Given the description of an element on the screen output the (x, y) to click on. 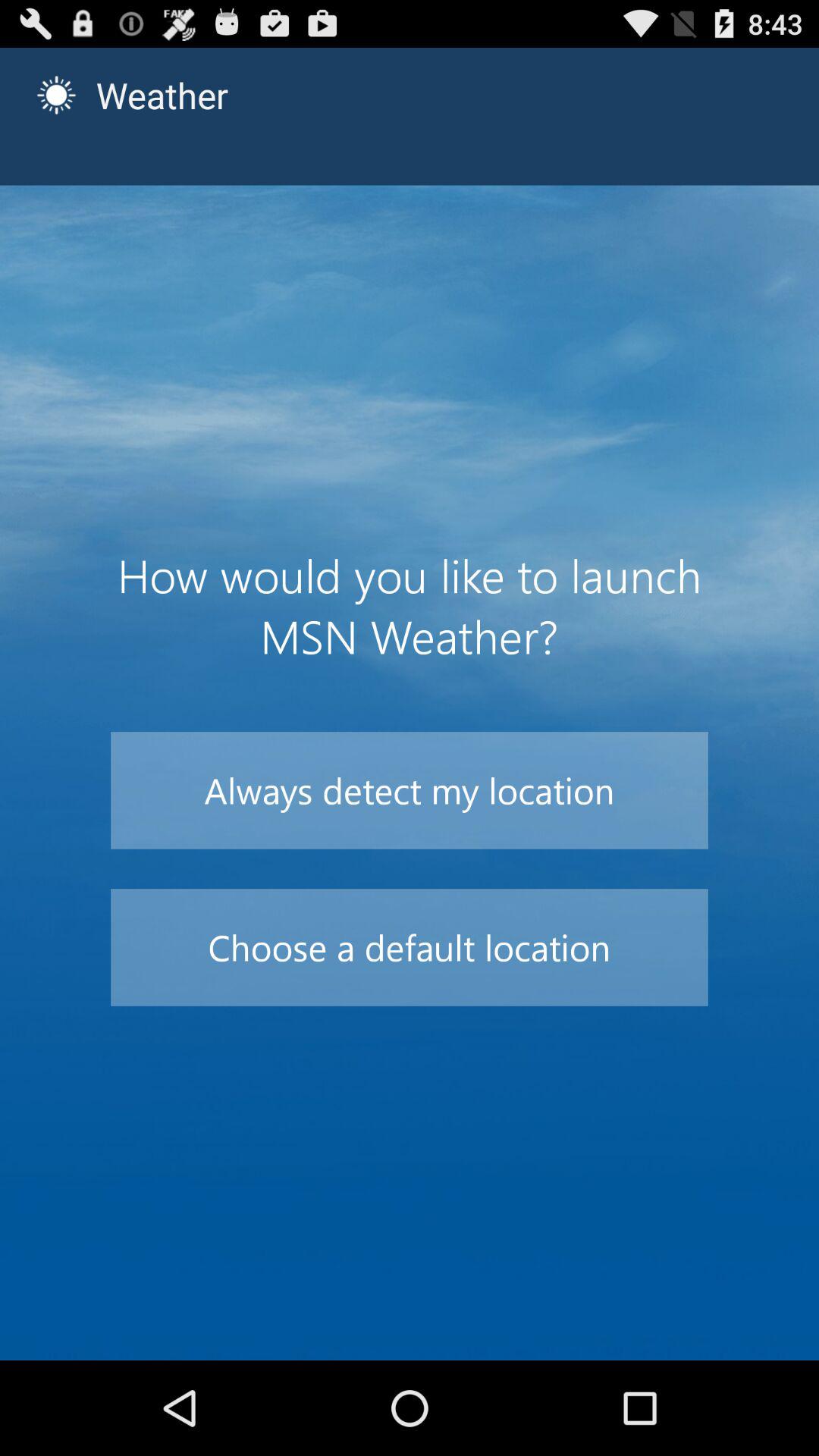
jump to always detect my icon (409, 790)
